Given the description of an element on the screen output the (x, y) to click on. 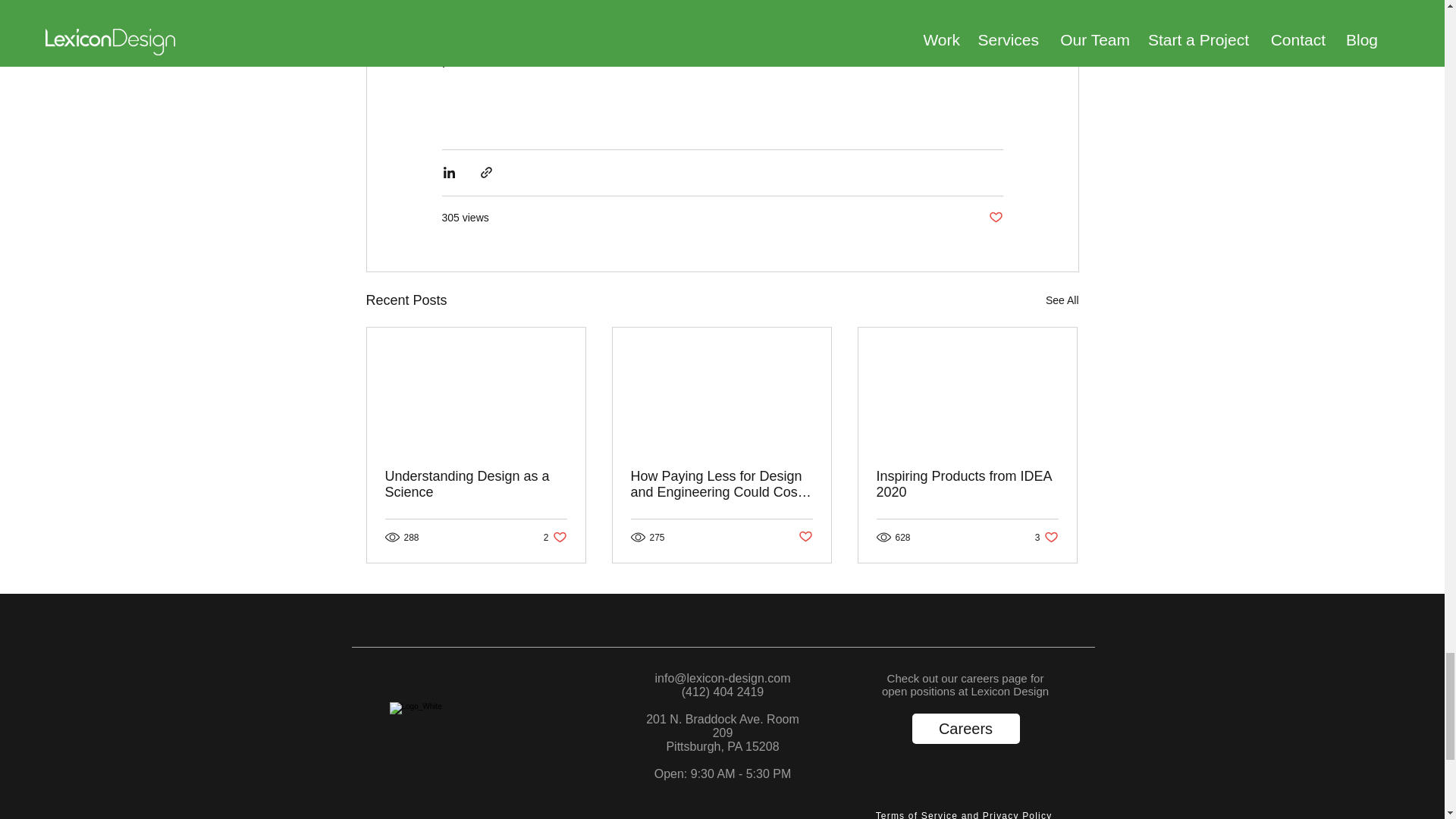
Contact us (555, 536)
Understanding Design as a Science (523, 38)
Careers (476, 484)
Post not marked as liked (965, 728)
Terms of Service and Privacy Policy (1046, 536)
Inspiring Products from IDEA 2020 (995, 217)
Post not marked as liked (966, 811)
See All (967, 484)
How Paying Less for Design and Engineering Could Cost You (804, 537)
